Given the description of an element on the screen output the (x, y) to click on. 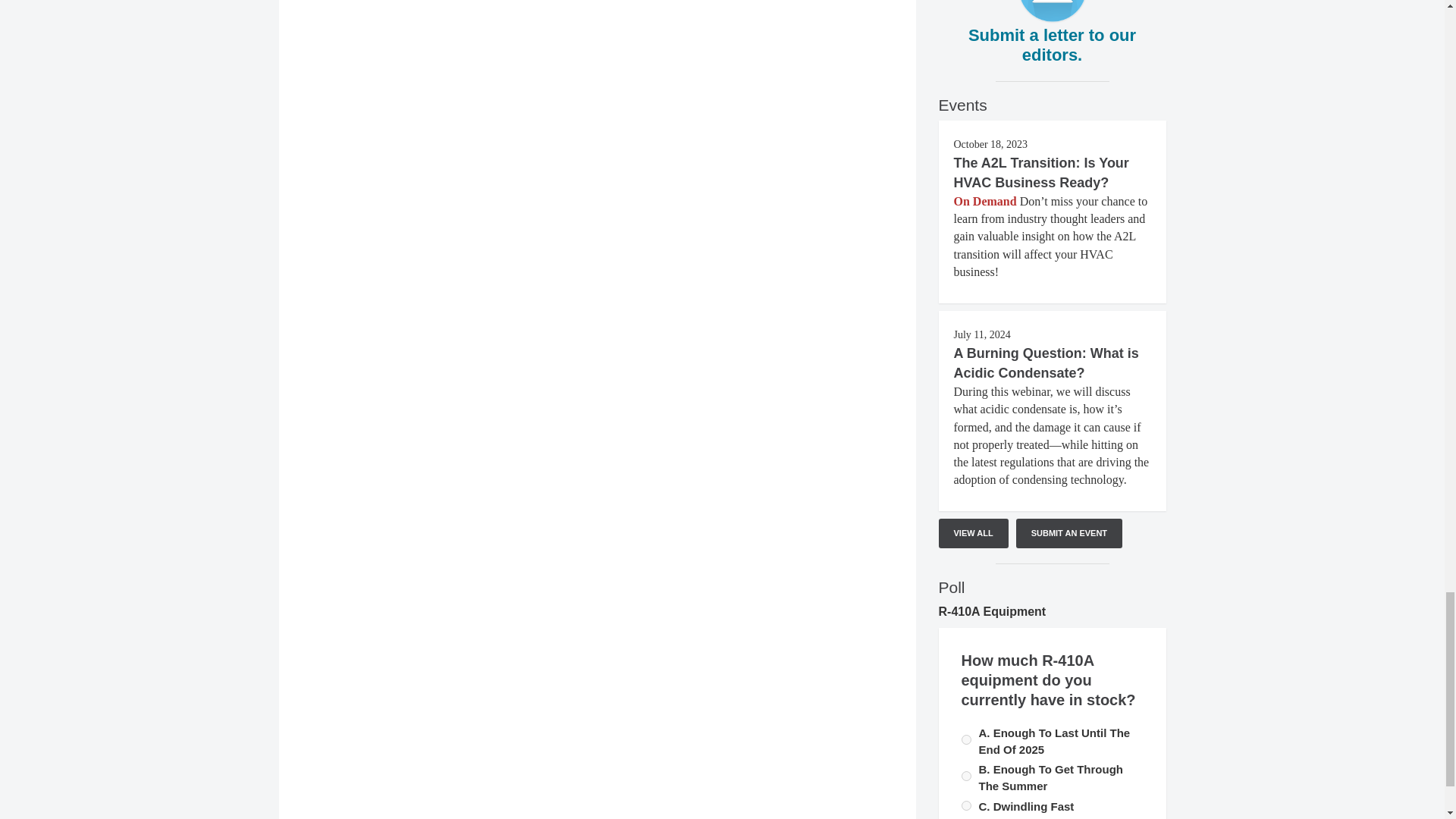
597 (965, 739)
598 (965, 805)
596 (965, 776)
